Given the description of an element on the screen output the (x, y) to click on. 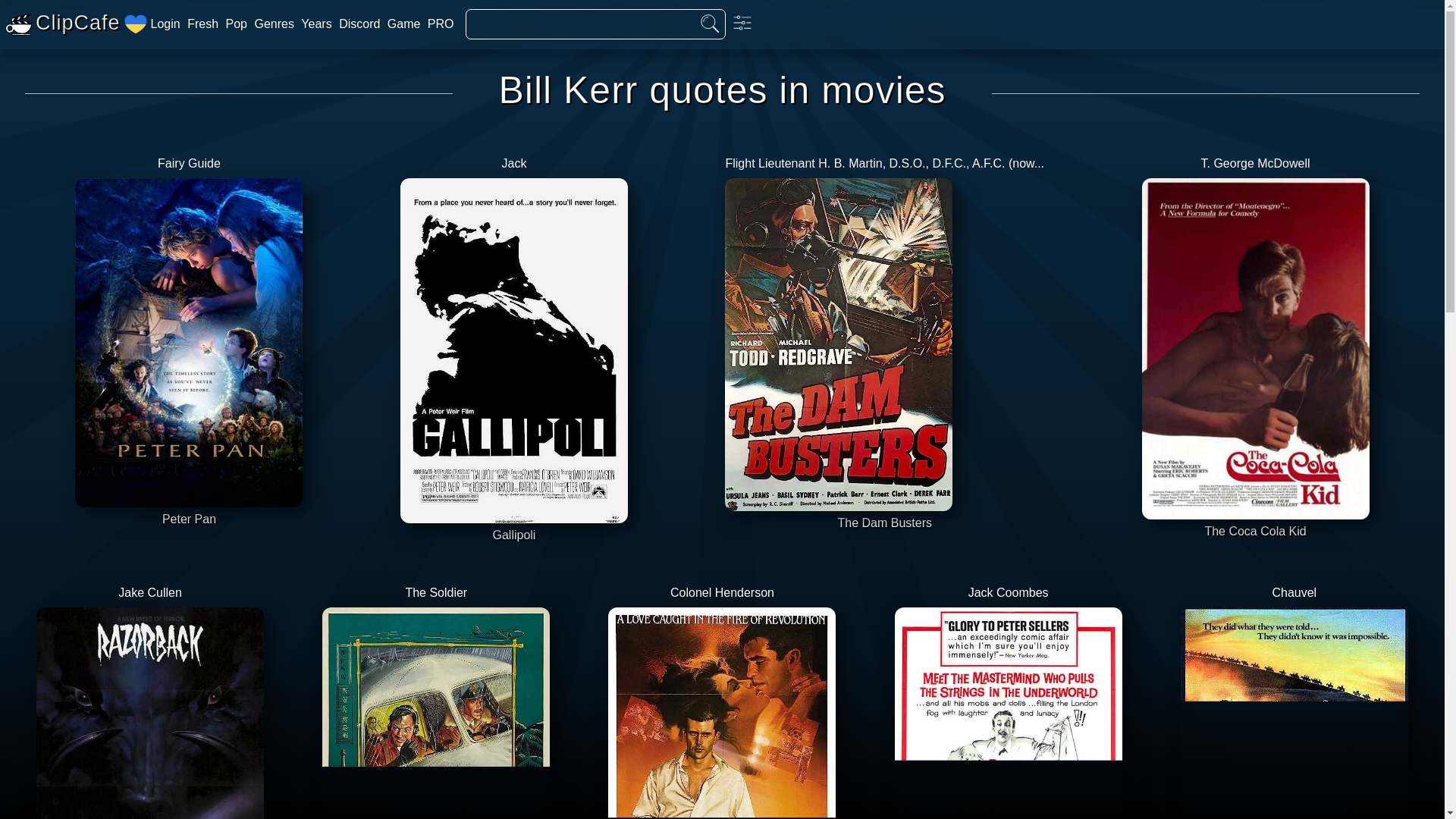
Go to homepage (60, 23)
Guess a movie by watching a clip (403, 24)
Movies sorted by screening year (1294, 695)
PRO (316, 24)
Last Liked and popular (441, 24)
Pop (236, 24)
Genres (236, 24)
Discord (273, 24)
Join our discord (359, 24)
